Given the description of an element on the screen output the (x, y) to click on. 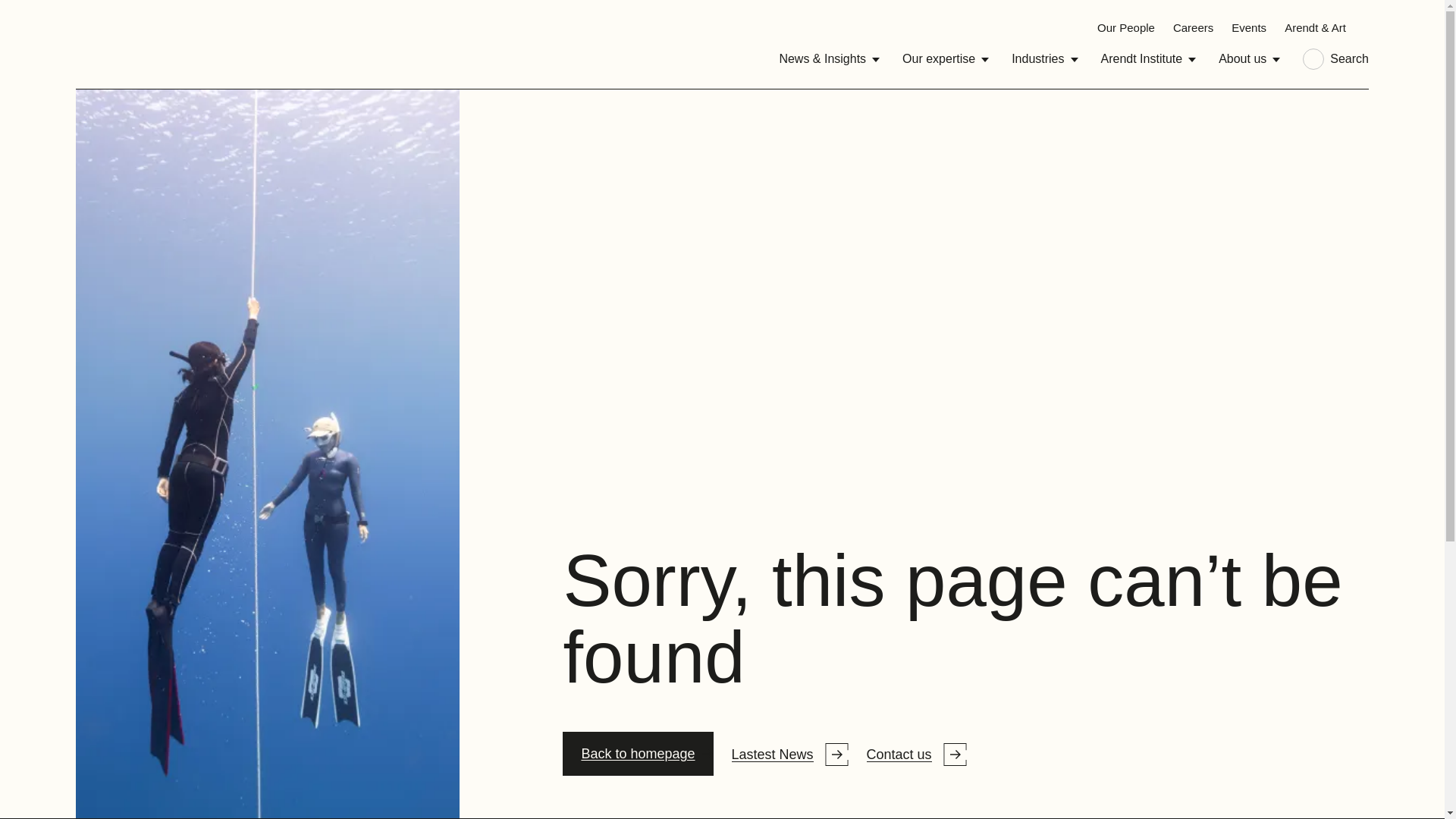
Careers (1192, 27)
Our People (1125, 27)
Our expertise (945, 59)
Events (1248, 27)
Arendt Go to home page (111, 43)
